Given the description of an element on the screen output the (x, y) to click on. 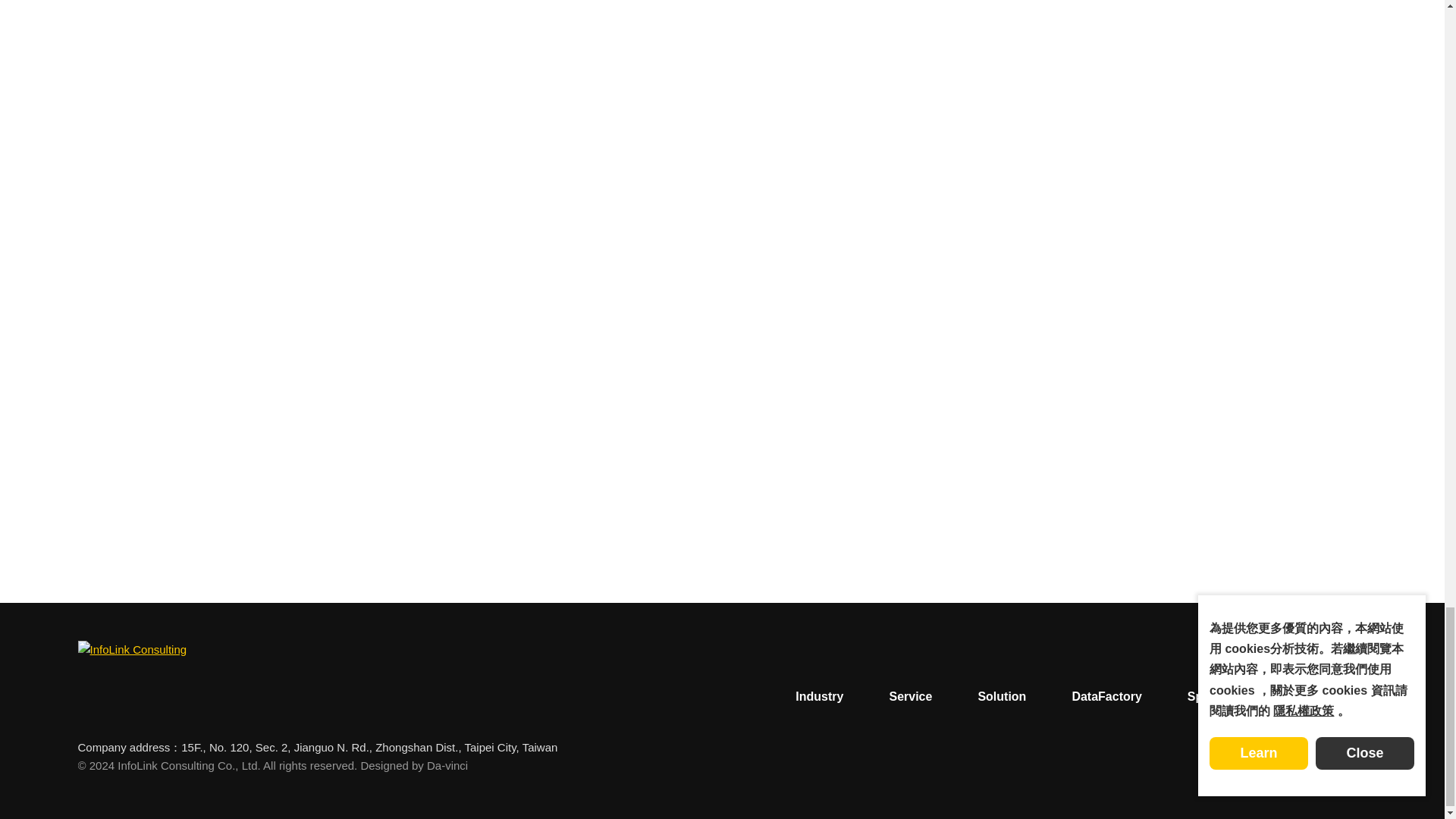
LinkedIn (1217, 765)
twitter (1250, 765)
facebook (1319, 765)
Youtube (1353, 765)
wechat (1285, 765)
